Given the description of an element on the screen output the (x, y) to click on. 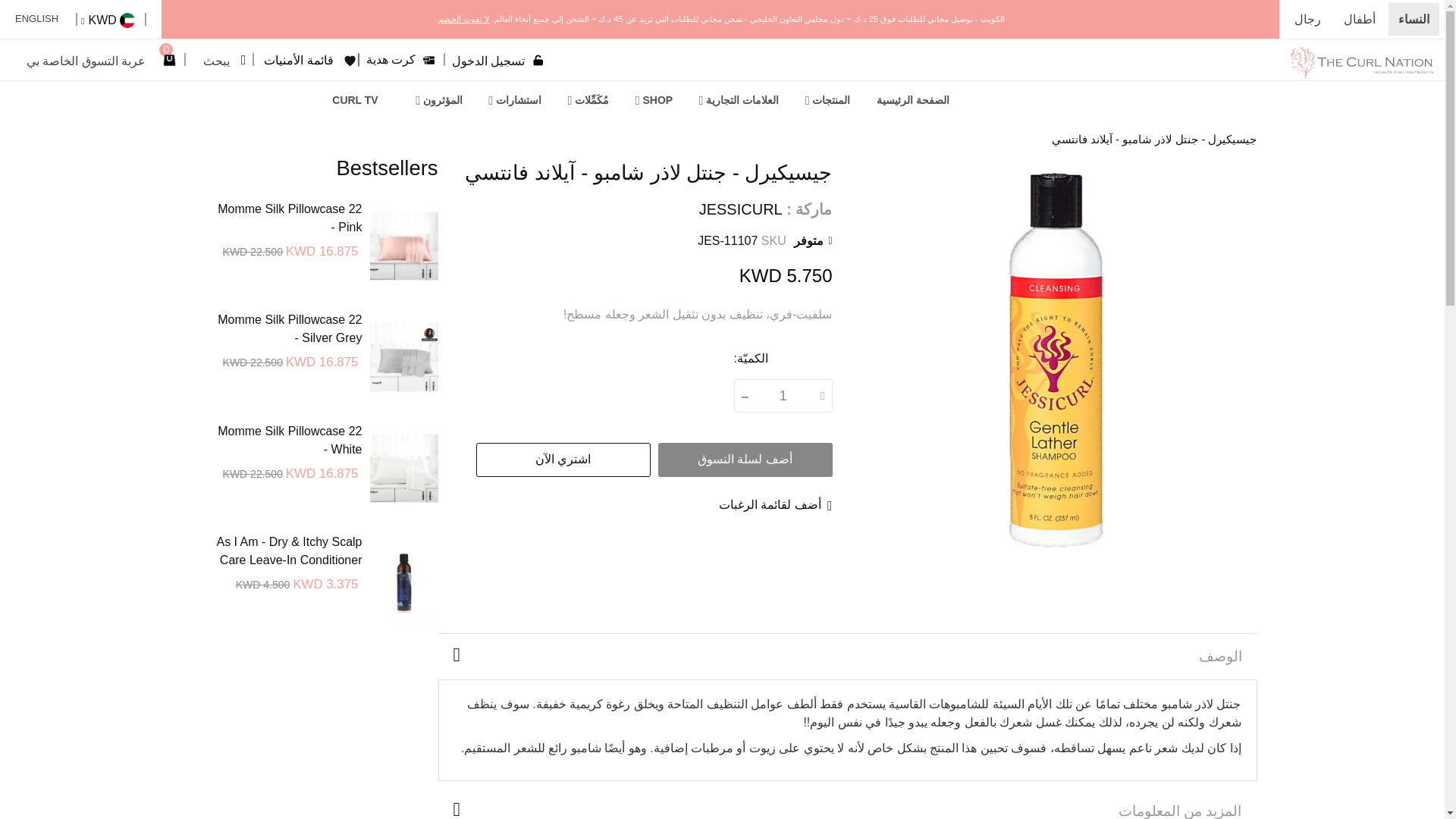
JESSICURL (740, 208)
1 (782, 395)
ENGLISH (40, 19)
